Given the description of an element on the screen output the (x, y) to click on. 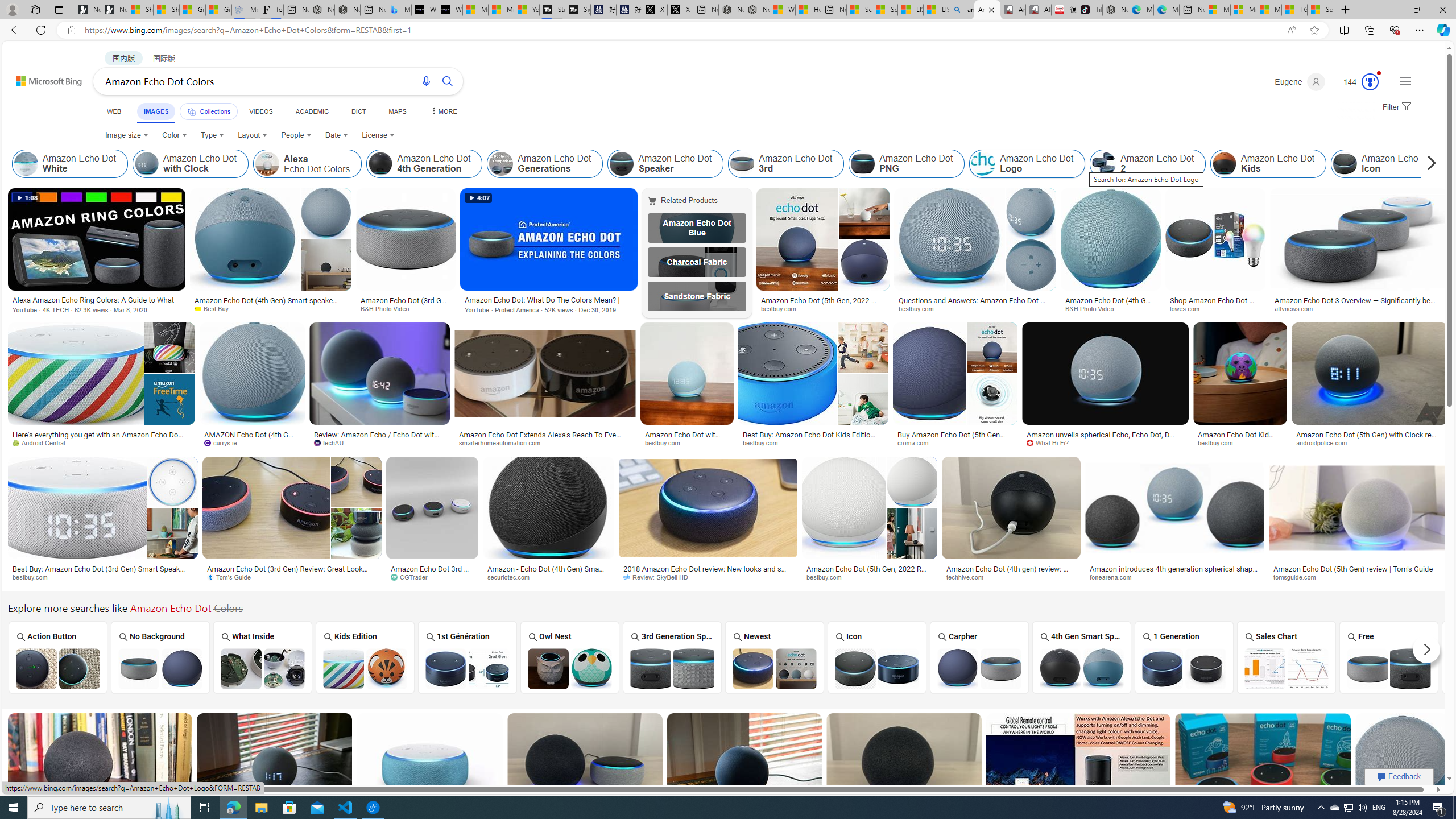
ACADEMIC (311, 111)
Microsoft account | Privacy (1242, 9)
Sales Chart (1286, 656)
Amazon Echo Dot Carpher Carpher (978, 656)
bestbuy.com (828, 576)
MAPS (397, 111)
